Given the description of an element on the screen output the (x, y) to click on. 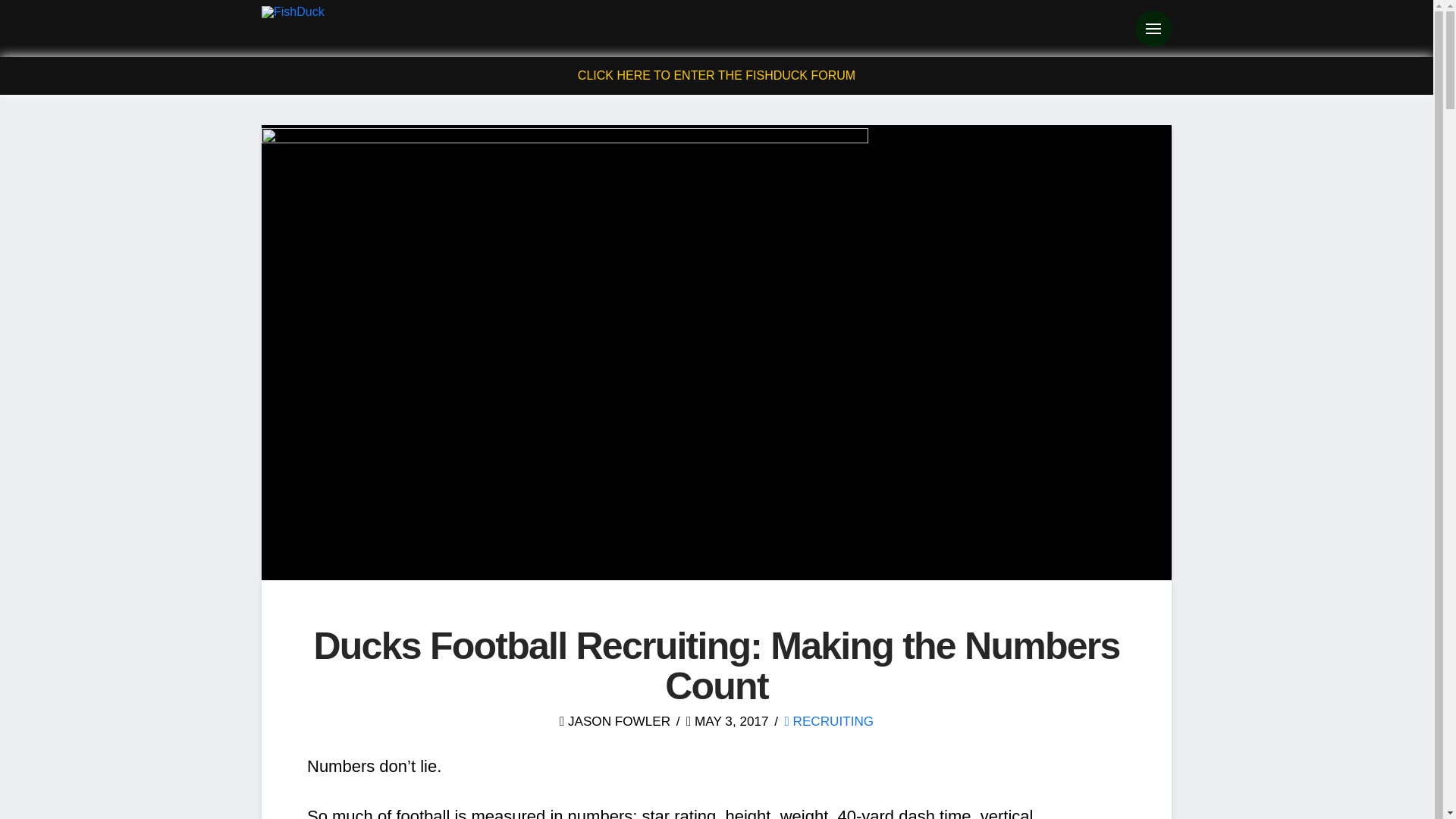
CLICK HERE TO ENTER THE FISHDUCK FORUM (717, 74)
RECRUITING (829, 720)
